Given the description of an element on the screen output the (x, y) to click on. 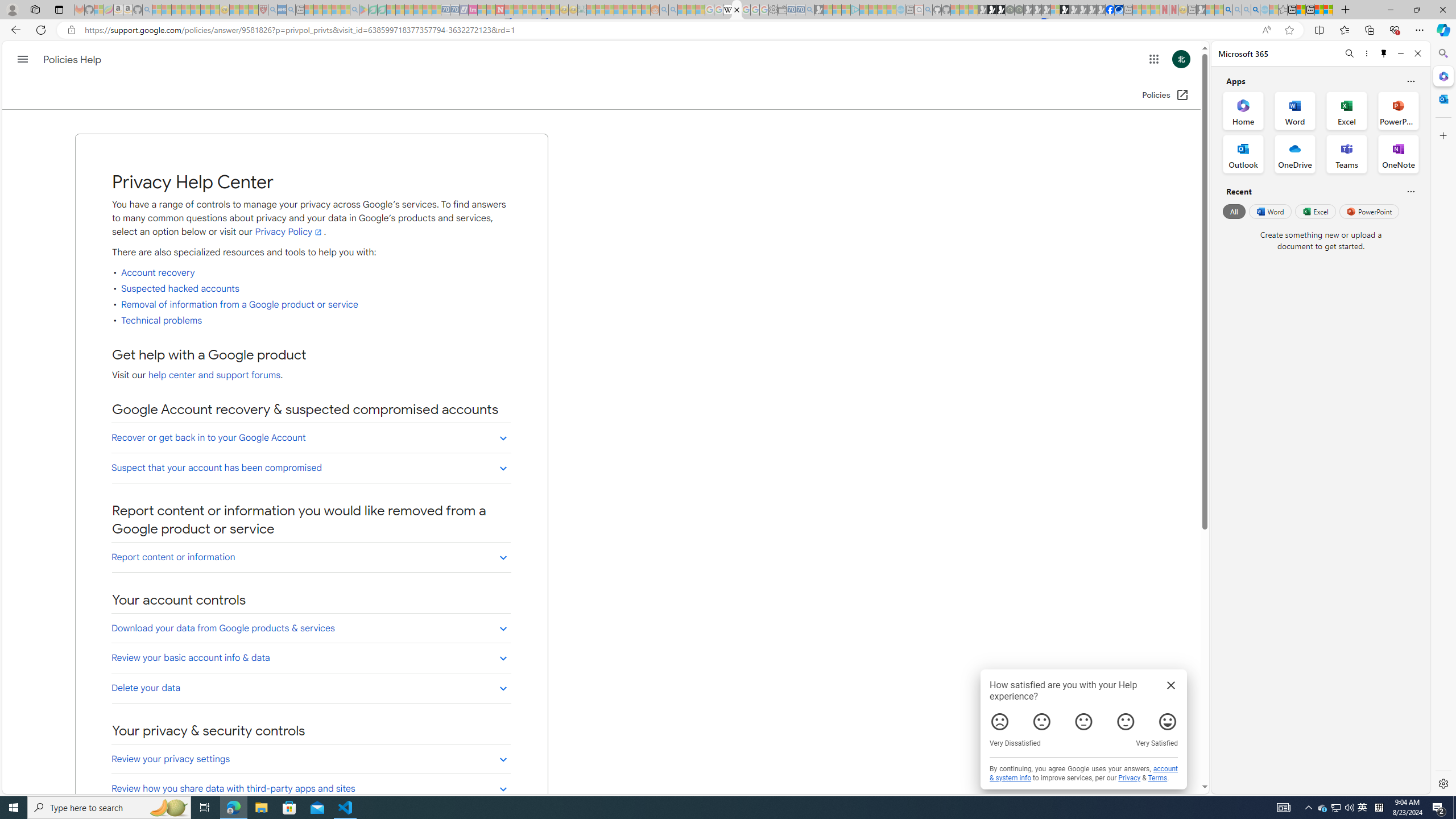
PowerPoint (1369, 210)
Excel Office App (1346, 110)
Privacy Help Center - Policies Help (736, 9)
Google Chrome Internet Browser Download - Search Images (1255, 9)
Removal of information from a Google product or service (239, 304)
